Given the description of an element on the screen output the (x, y) to click on. 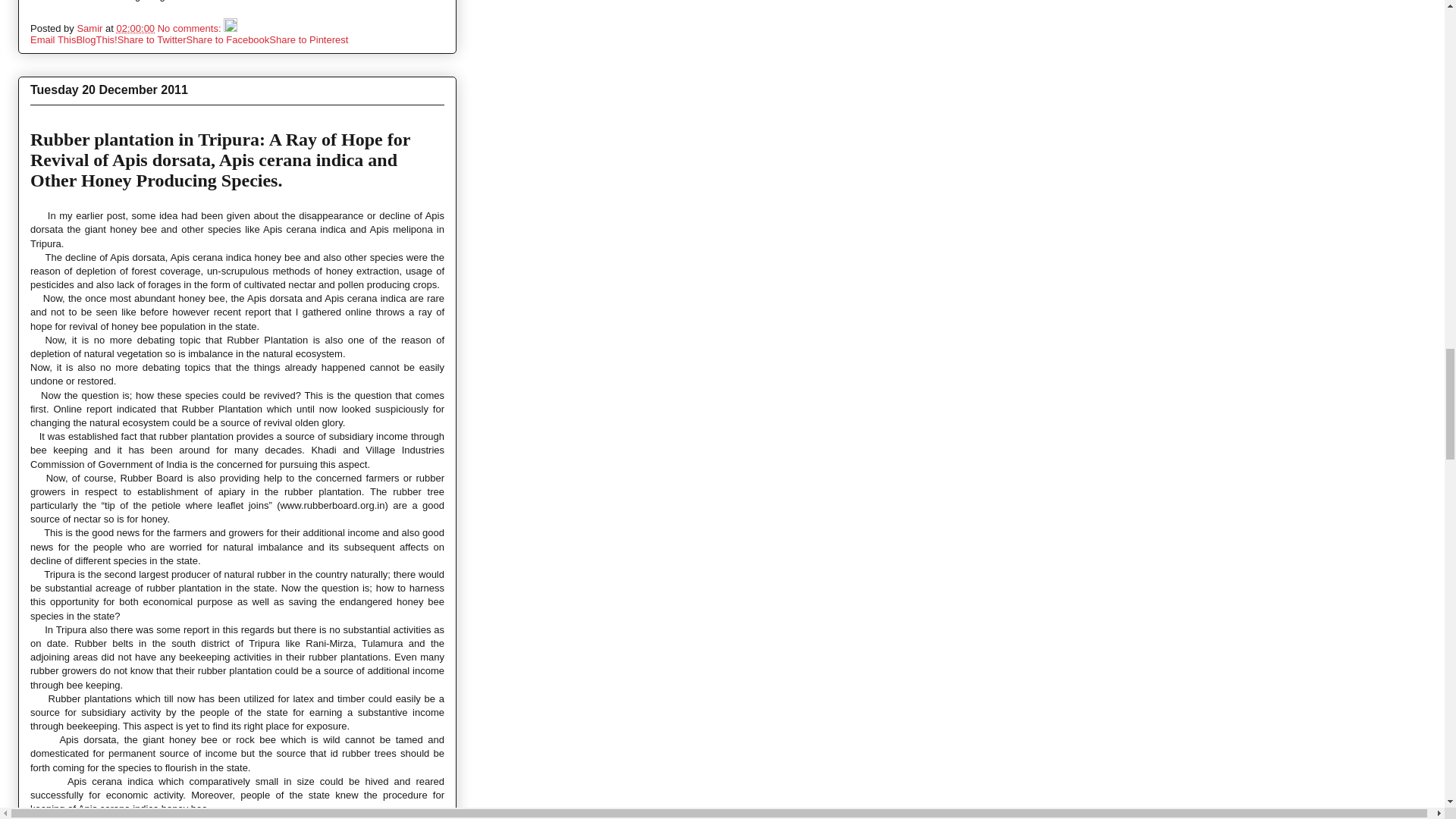
author profile (90, 28)
Email This (52, 39)
Share to Facebook (227, 39)
Share to Pinterest (308, 39)
02:00:00 (135, 28)
Email This (52, 39)
Share to Twitter (151, 39)
No comments: (190, 28)
Edit Post (230, 28)
permanent link (135, 28)
BlogThis! (95, 39)
BlogThis! (95, 39)
Samir (90, 28)
Share to Twitter (151, 39)
